Given the description of an element on the screen output the (x, y) to click on. 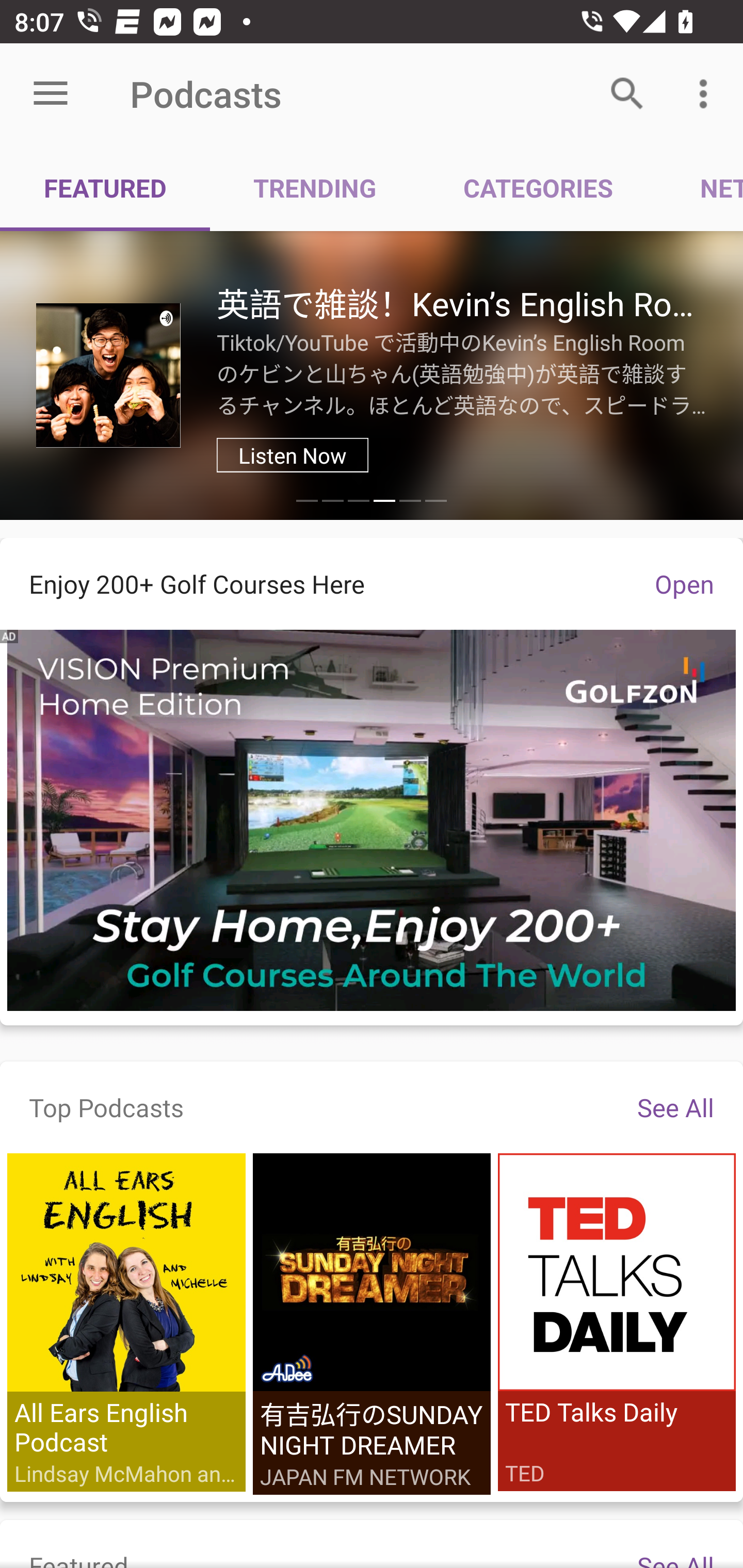
Open menu (50, 93)
Search (626, 93)
More options (706, 93)
FEATURED (105, 187)
TRENDING (314, 187)
CATEGORIES (537, 187)
Enjoy 200+ Golf Courses Here (312, 583)
Open (684, 583)
Top Podcasts (106, 1106)
See All (675, 1106)
有吉弘行のSUNDAY NIGHT DREAMER JAPAN FM NETWORK (371, 1324)
TED Talks Daily TED (616, 1322)
